Given the description of an element on the screen output the (x, y) to click on. 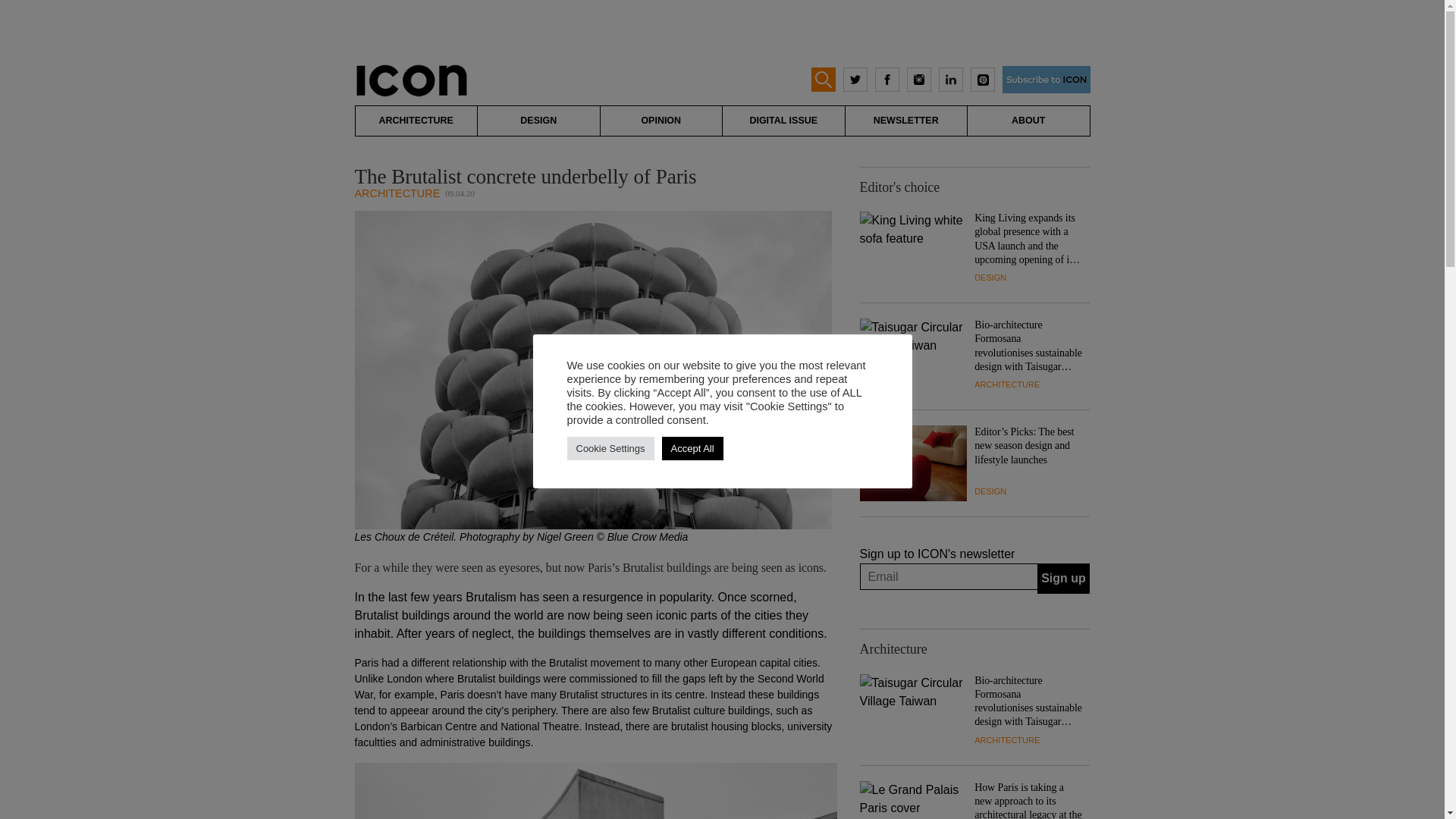
Search (25, 9)
ARCHITECTURE (398, 193)
Sign up (1062, 578)
OPINION (660, 120)
DESIGN (538, 120)
DIGITAL ISSUE (783, 120)
ABOUT (1028, 120)
DESIGN (990, 491)
ARCHITECTURE (416, 120)
NEWSLETTER (905, 120)
DESIGN (990, 276)
ARCHITECTURE (1006, 384)
